Given the description of an element on the screen output the (x, y) to click on. 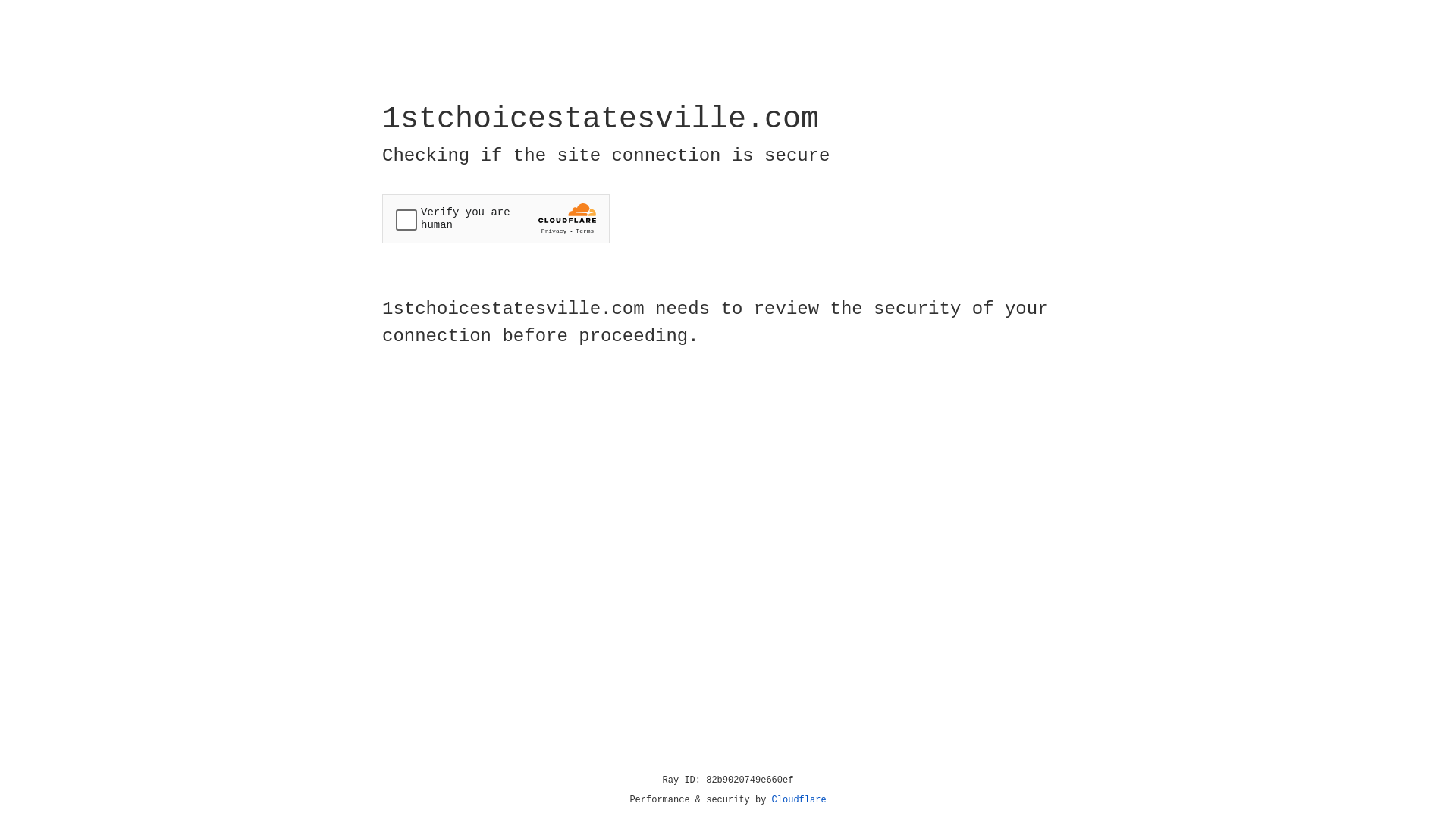
Cloudflare Element type: text (798, 799)
Widget containing a Cloudflare security challenge Element type: hover (495, 218)
